Given the description of an element on the screen output the (x, y) to click on. 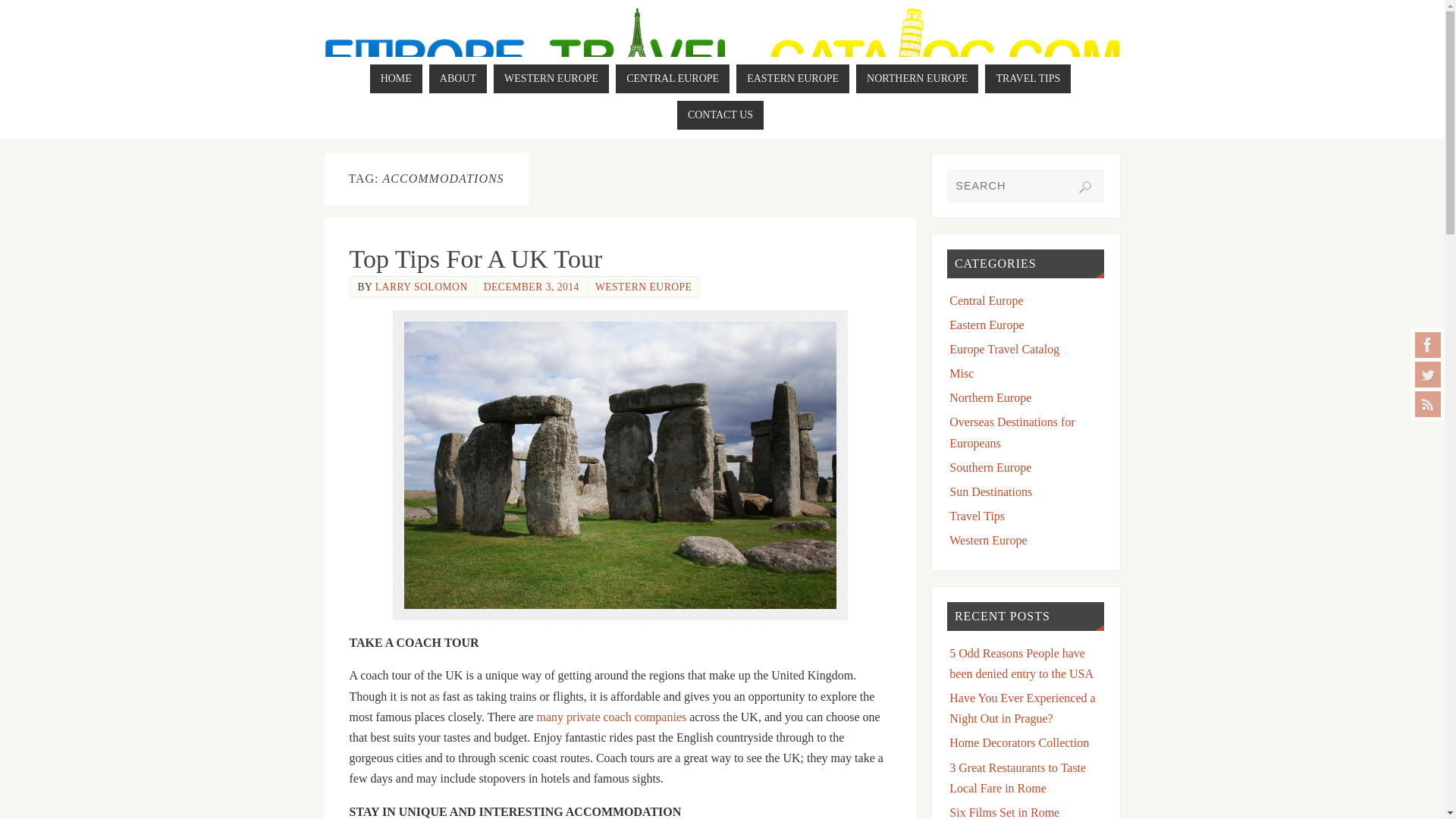
LARRY SOLOMON (421, 286)
CONTACT US (719, 114)
View all posts by Larry Solomon (421, 286)
CENTRAL EUROPE (672, 78)
WESTERN EUROPE (550, 78)
WESTERN EUROPE (643, 286)
TRAVEL TIPS (1027, 78)
Facebook (1428, 344)
ABOUT (457, 78)
many private coach companies (612, 716)
HOME (395, 78)
RSS (1428, 403)
Permalink to Top Tips For A UK Tour (475, 258)
DECEMBER 3, 2014 (531, 286)
